Given the description of an element on the screen output the (x, y) to click on. 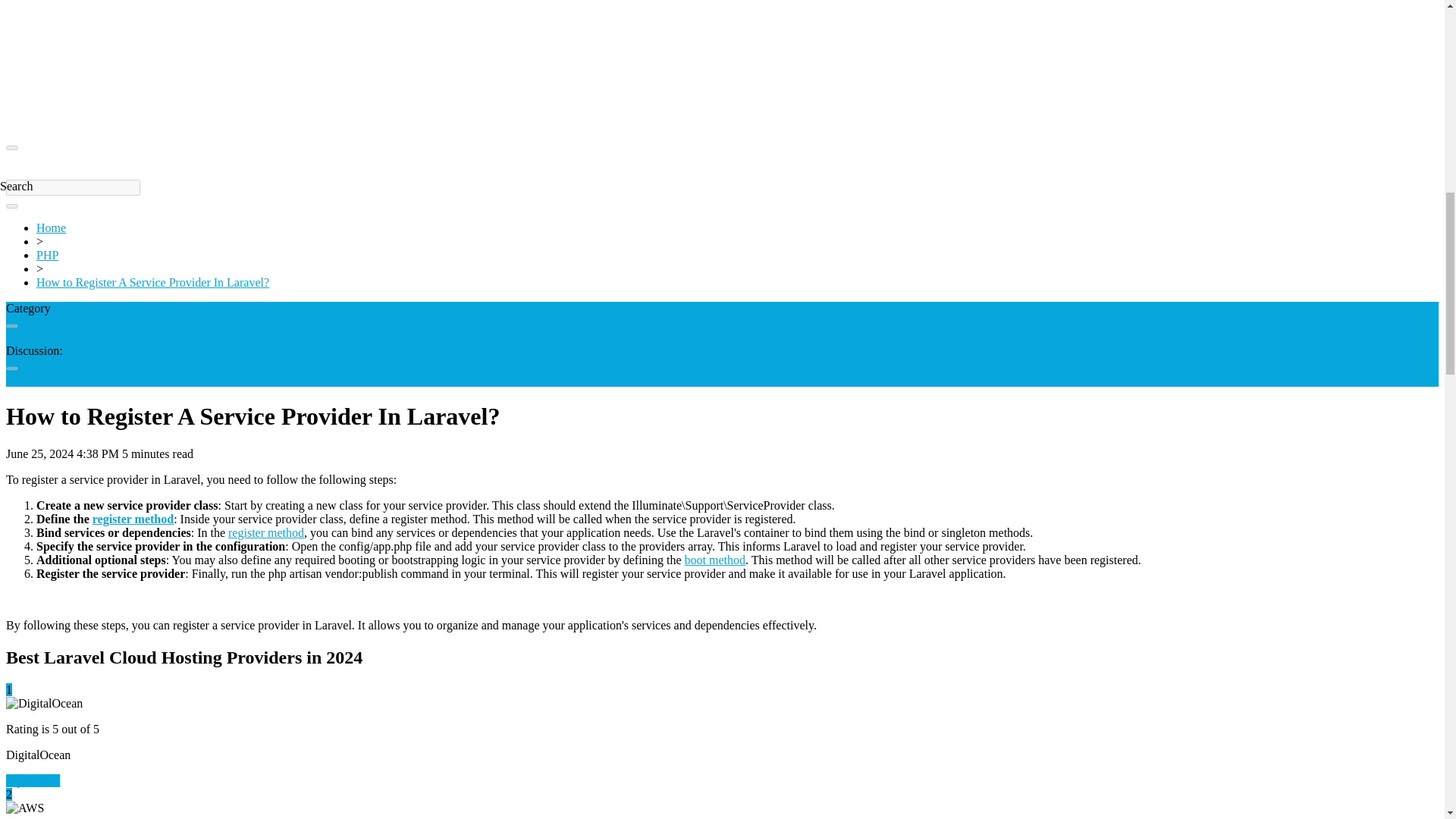
Try It Now (32, 780)
boot method (714, 559)
PHP (47, 254)
Home (50, 227)
register method (133, 518)
register method (266, 532)
How to Register A Service Provider In Laravel? (152, 282)
